Given the description of an element on the screen output the (x, y) to click on. 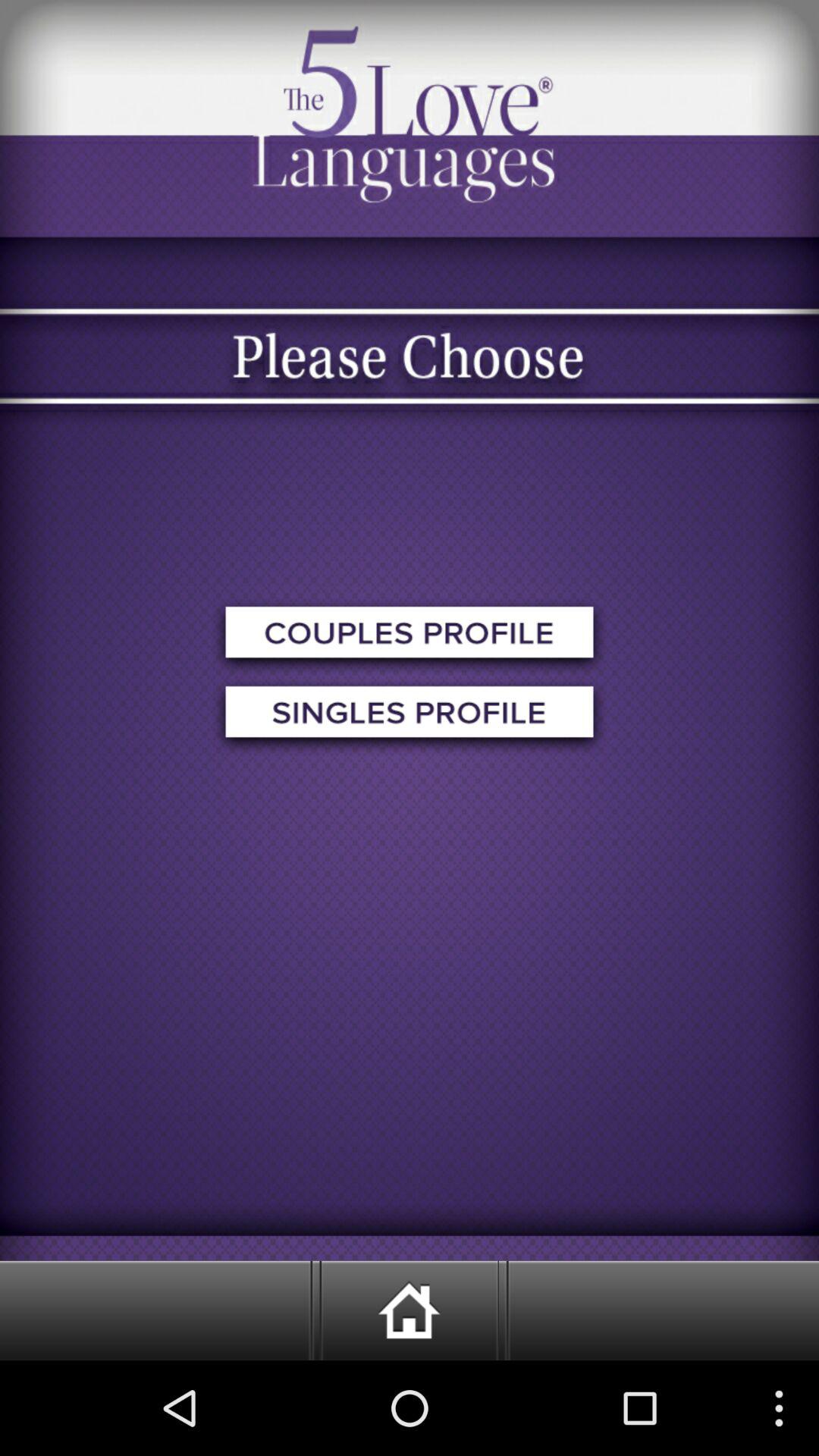
go to couples profile (409, 636)
